Given the description of an element on the screen output the (x, y) to click on. 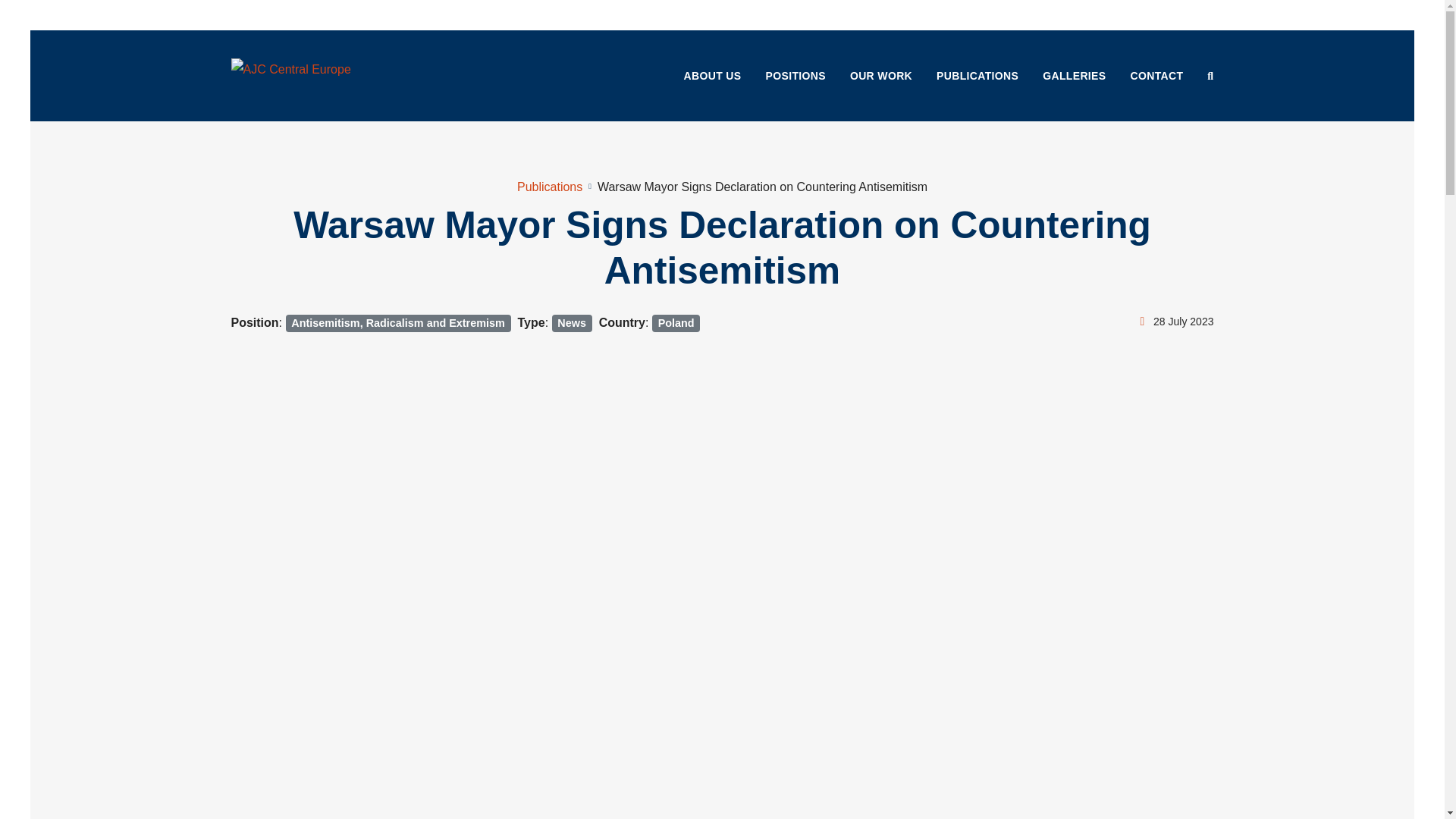
Antisemitism, Radicalism and Extremism (398, 322)
CONTACT (1155, 76)
ABOUT US (712, 76)
POSITIONS (795, 76)
OUR WORK (881, 76)
Poland (676, 322)
Publications (549, 186)
News (571, 322)
PUBLICATIONS (976, 76)
GALLERIES (1073, 76)
